Given the description of an element on the screen output the (x, y) to click on. 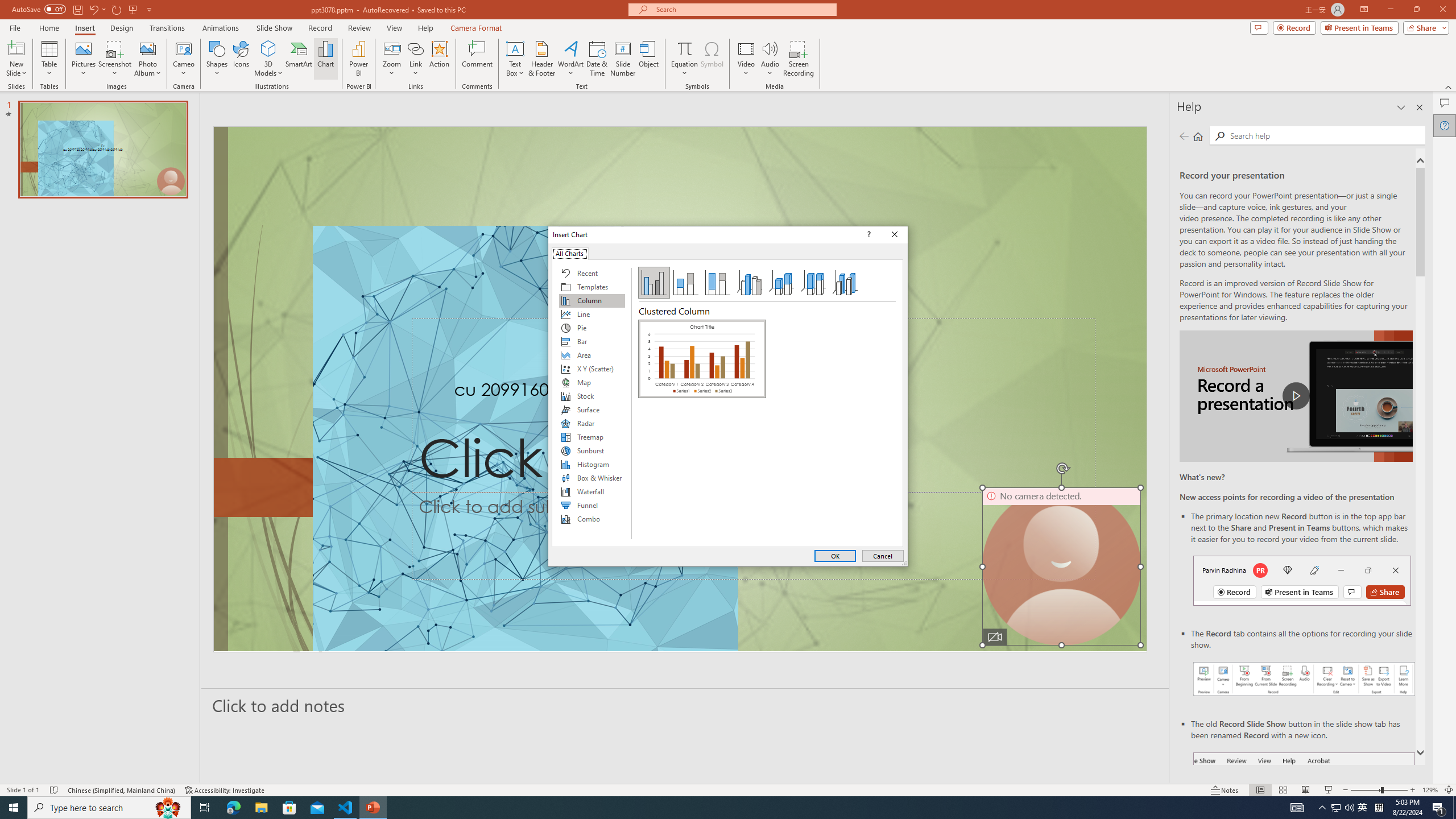
Date & Time... (596, 58)
Object... (649, 58)
Box & Whisker (591, 477)
3-D Column (844, 282)
Recent (591, 273)
